Given the description of an element on the screen output the (x, y) to click on. 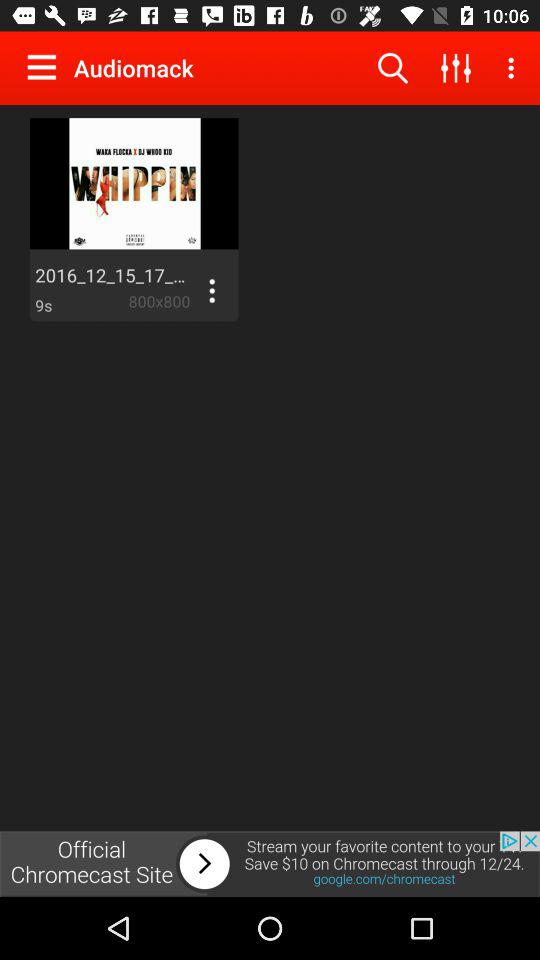
open advertisement (270, 864)
